Given the description of an element on the screen output the (x, y) to click on. 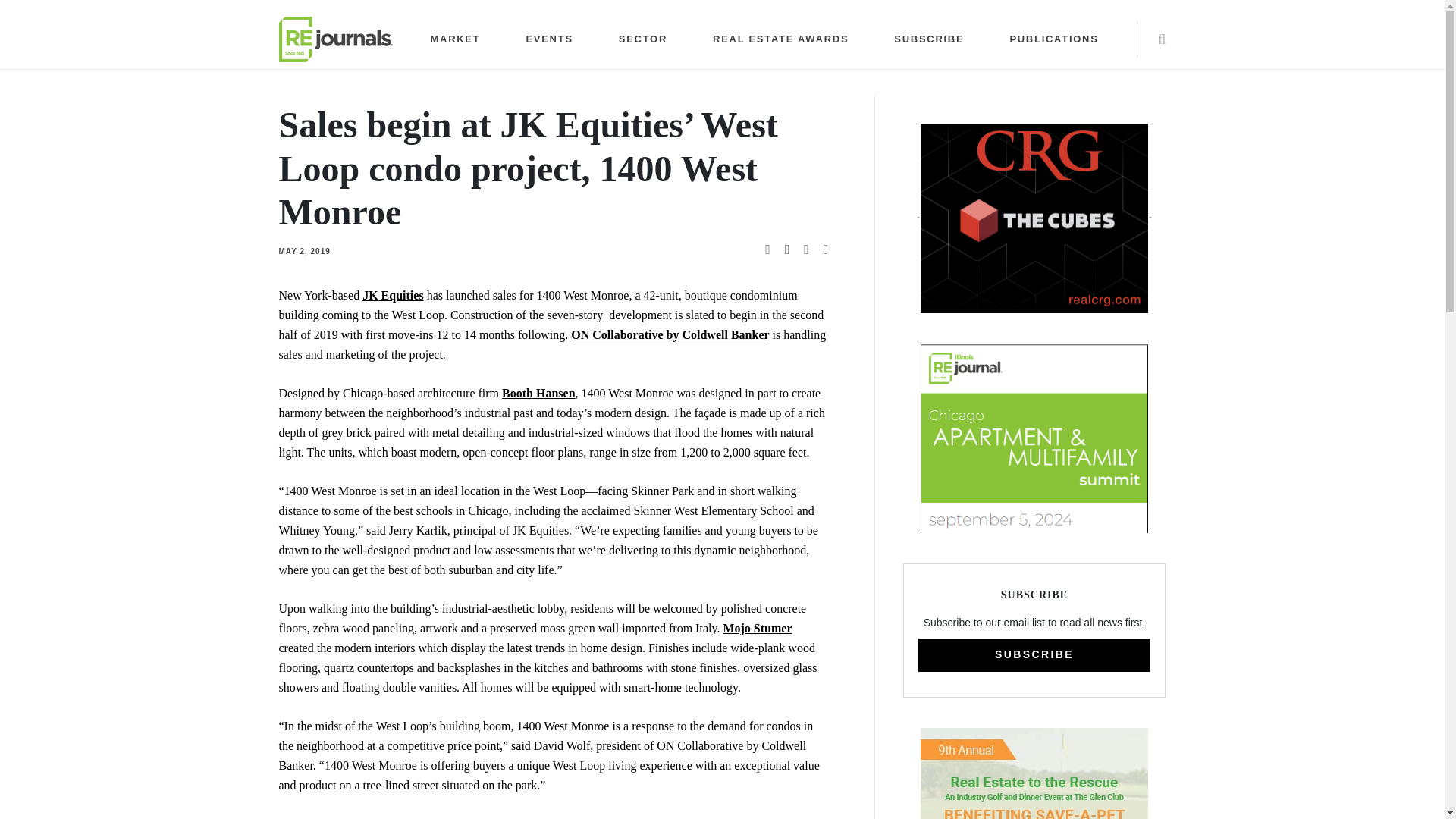
SECTOR (642, 38)
MARKET (454, 38)
EVENTS (548, 38)
